Given the description of an element on the screen output the (x, y) to click on. 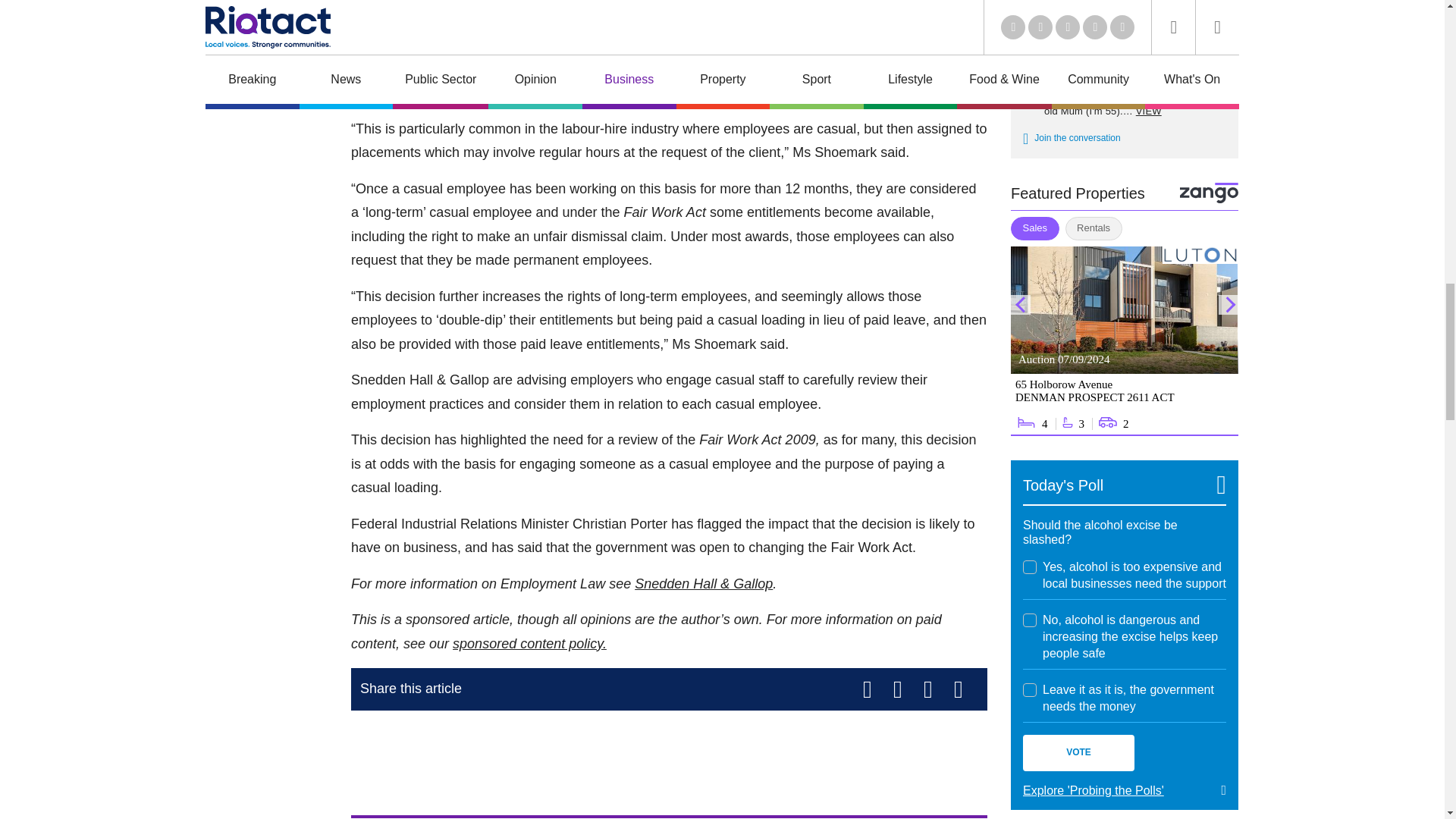
2046 (1029, 567)
Zango (1209, 192)
2048 (1029, 689)
Zango Sales (1124, 340)
2047 (1029, 620)
   Vote    (1078, 752)
